Given the description of an element on the screen output the (x, y) to click on. 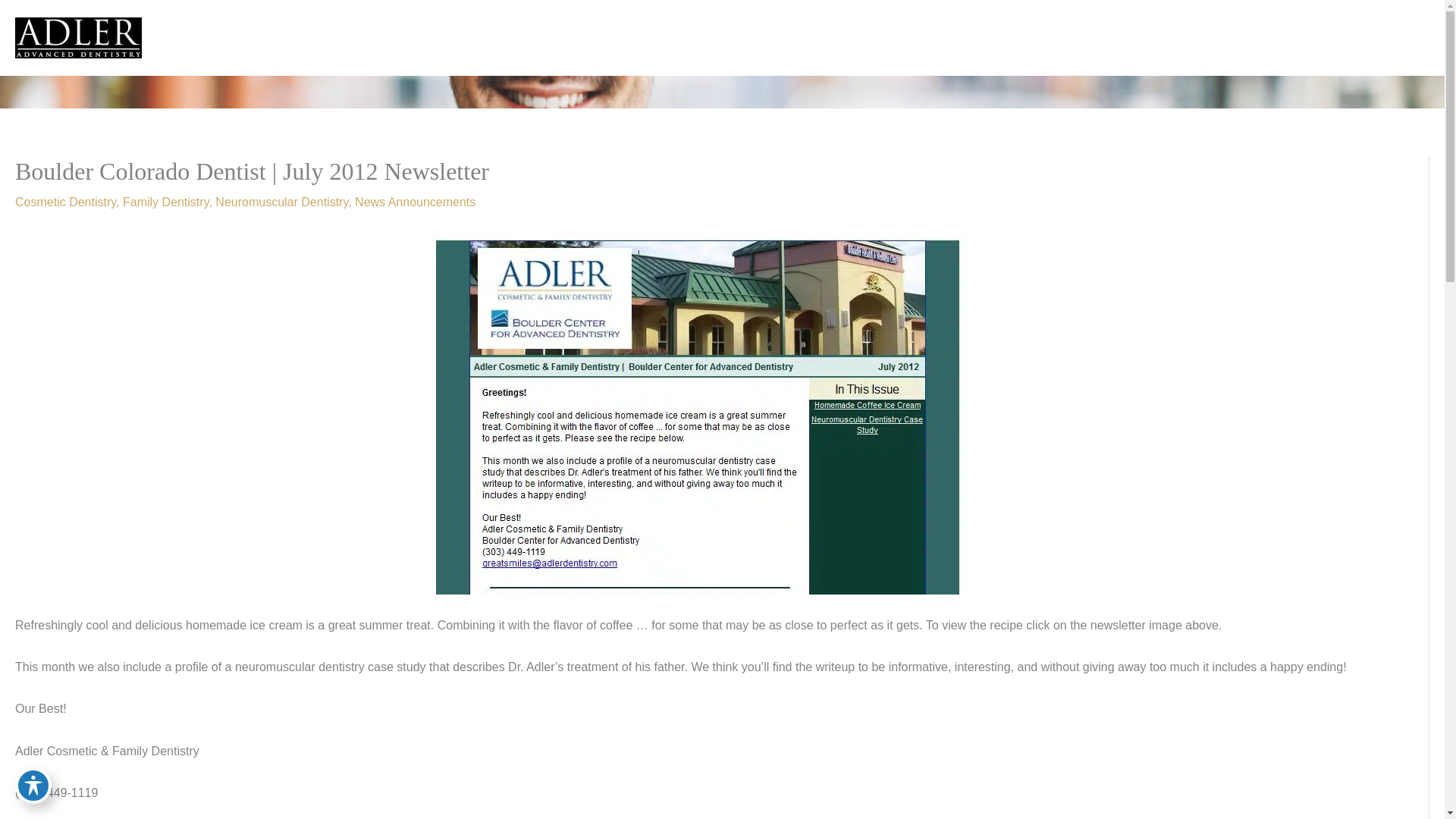
About Us (806, 38)
Services (880, 38)
